Given the description of an element on the screen output the (x, y) to click on. 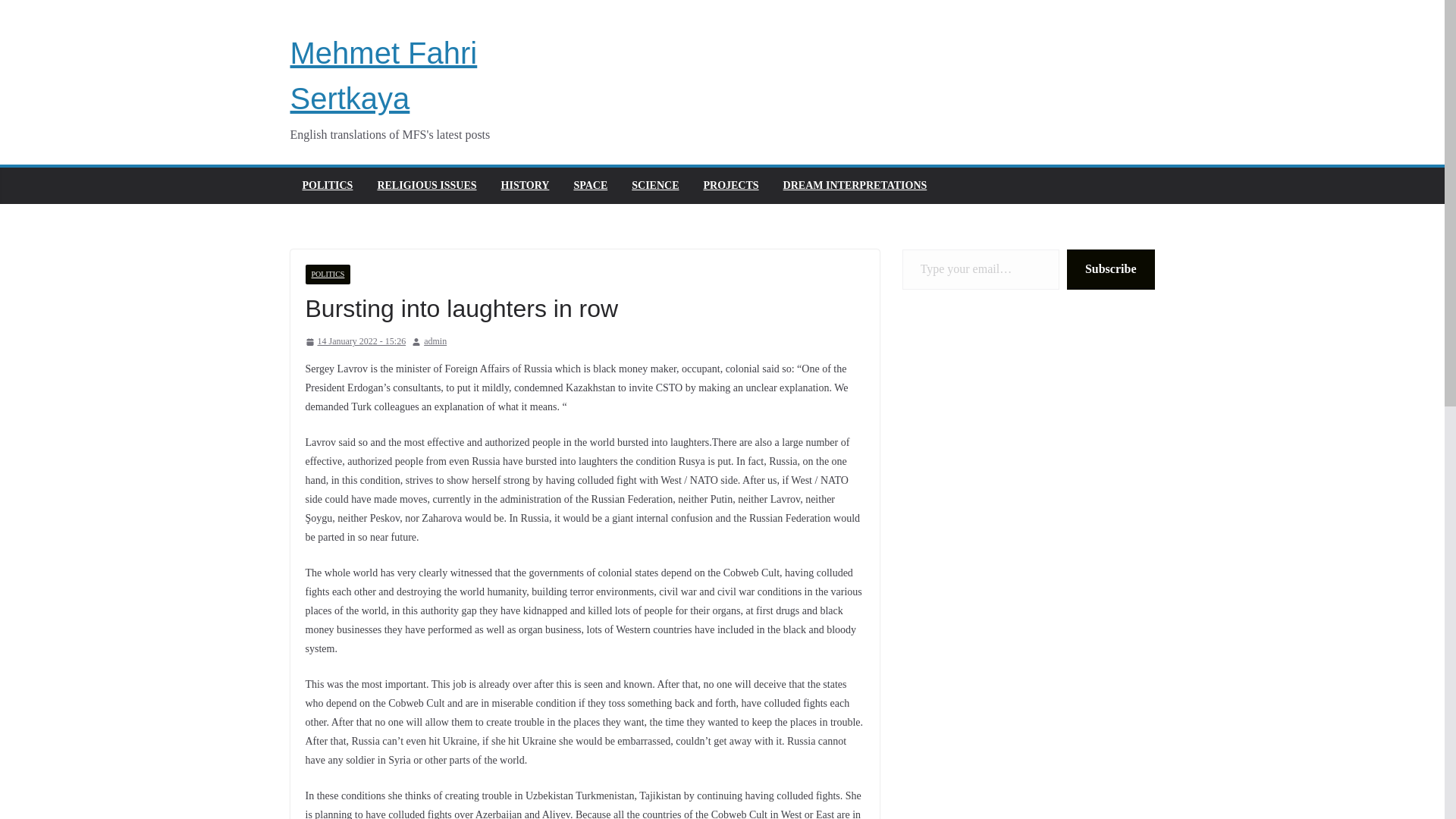
Mehmet Fahri Sertkaya (383, 75)
PROJECTS (730, 185)
DREAM INTERPRETATIONS (855, 185)
admin (434, 341)
14 January 2022 - 15:26 (355, 341)
HISTORY (525, 185)
SPACE (590, 185)
POLITICS (327, 274)
15:26 (355, 341)
SCIENCE (654, 185)
admin (434, 341)
RELIGIOUS ISSUES (426, 185)
Mehmet Fahri Sertkaya (383, 75)
POLITICS (326, 185)
Subscribe (1110, 269)
